Given the description of an element on the screen output the (x, y) to click on. 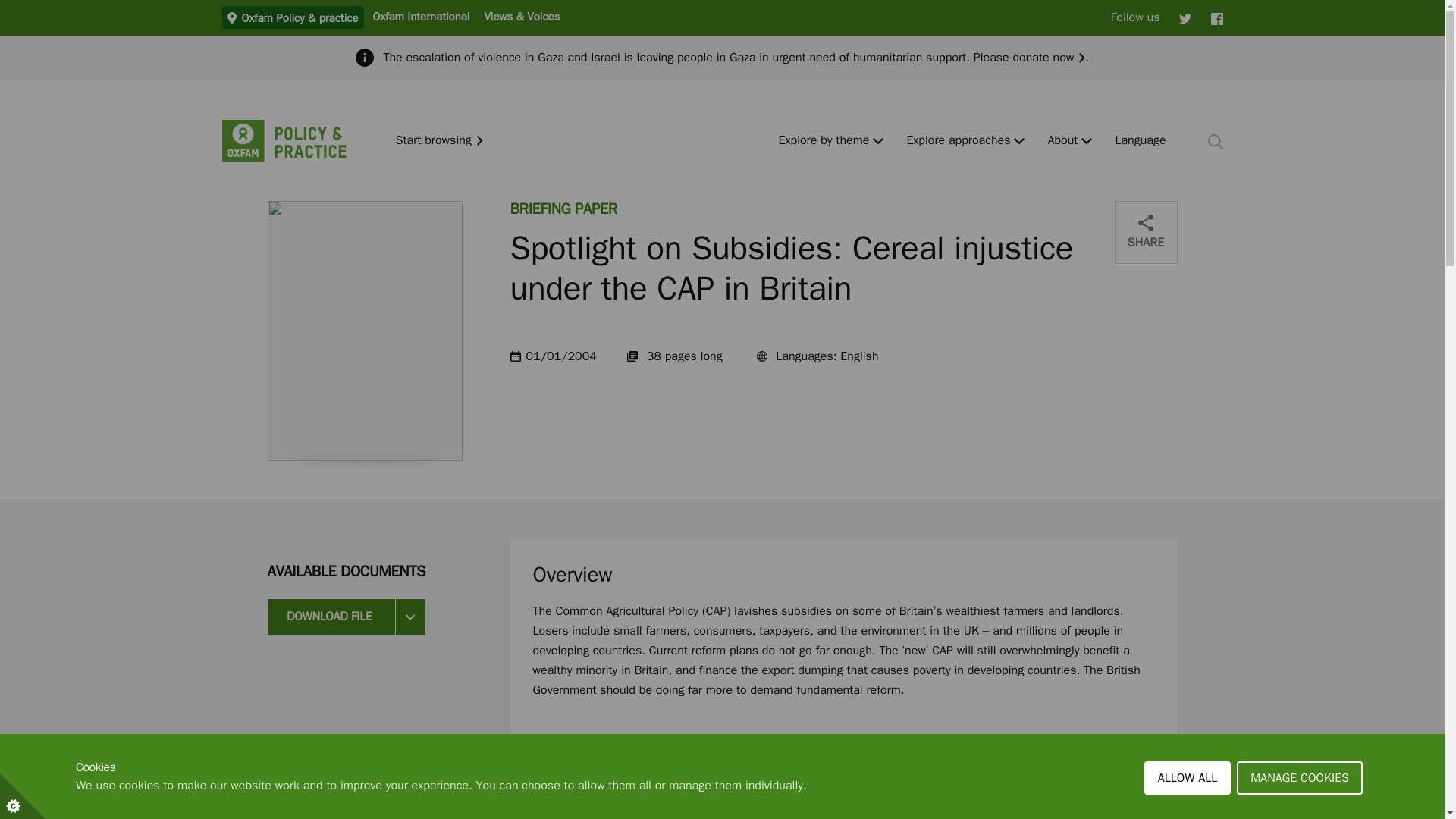
Explore by theme (823, 140)
Explore approaches (957, 140)
Oxfam International (420, 16)
Search (1215, 140)
Start browsing (439, 140)
Menu toggle (1019, 141)
Twitter (1184, 17)
English (1140, 140)
Menu toggle (877, 141)
Menu toggle (1086, 141)
